Given the description of an element on the screen output the (x, y) to click on. 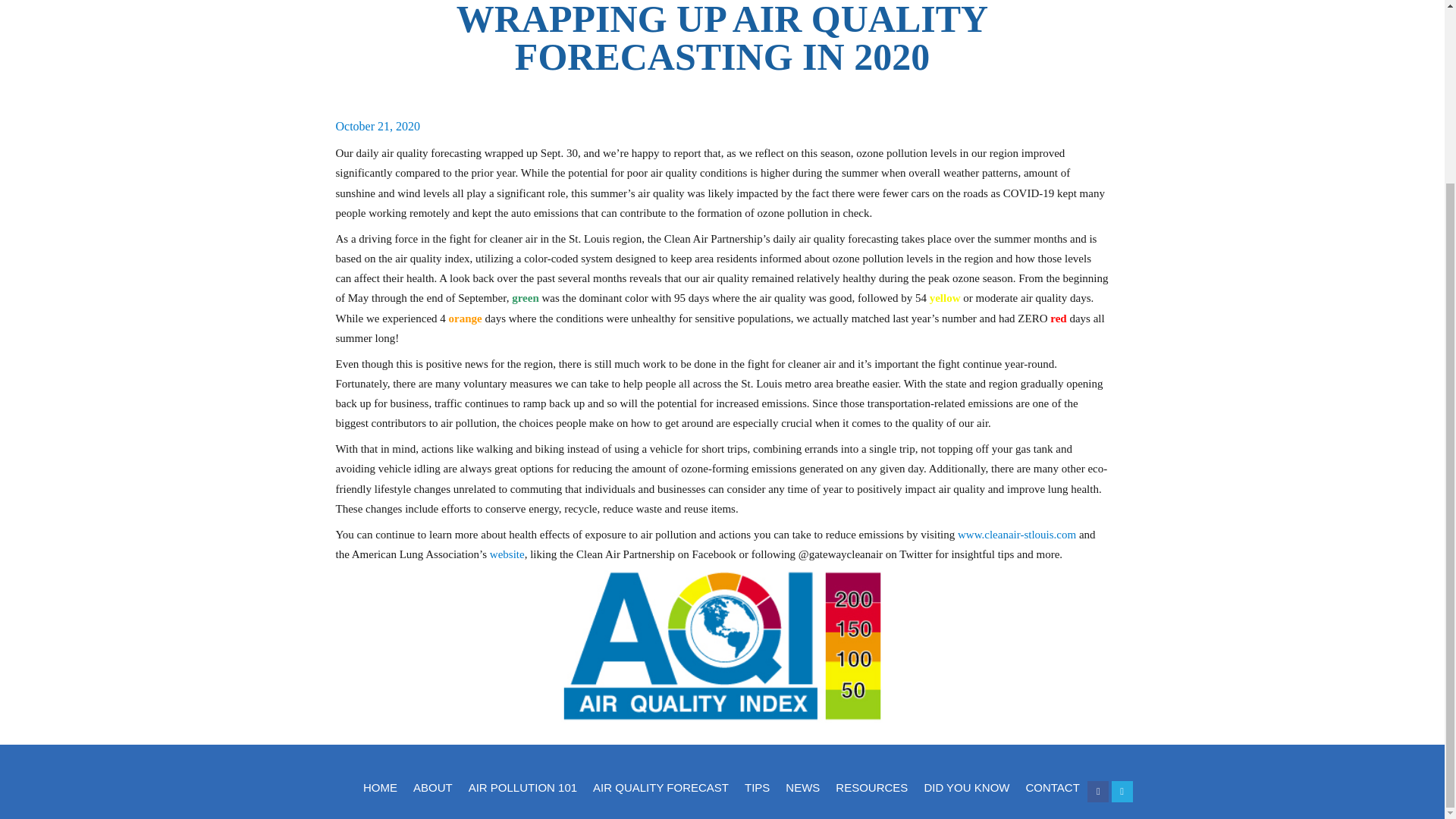
HOME (379, 787)
website (506, 553)
ABOUT (432, 787)
AIR POLLUTION 101 (522, 787)
TIPS (756, 787)
AIR QUALITY FORECAST (660, 787)
CONTACT (1052, 787)
www.cleanair-stlouis.com (1016, 534)
October 21, 2020 (377, 125)
NEWS (802, 787)
DID YOU KNOW (966, 787)
RESOURCES (871, 787)
